Given the description of an element on the screen output the (x, y) to click on. 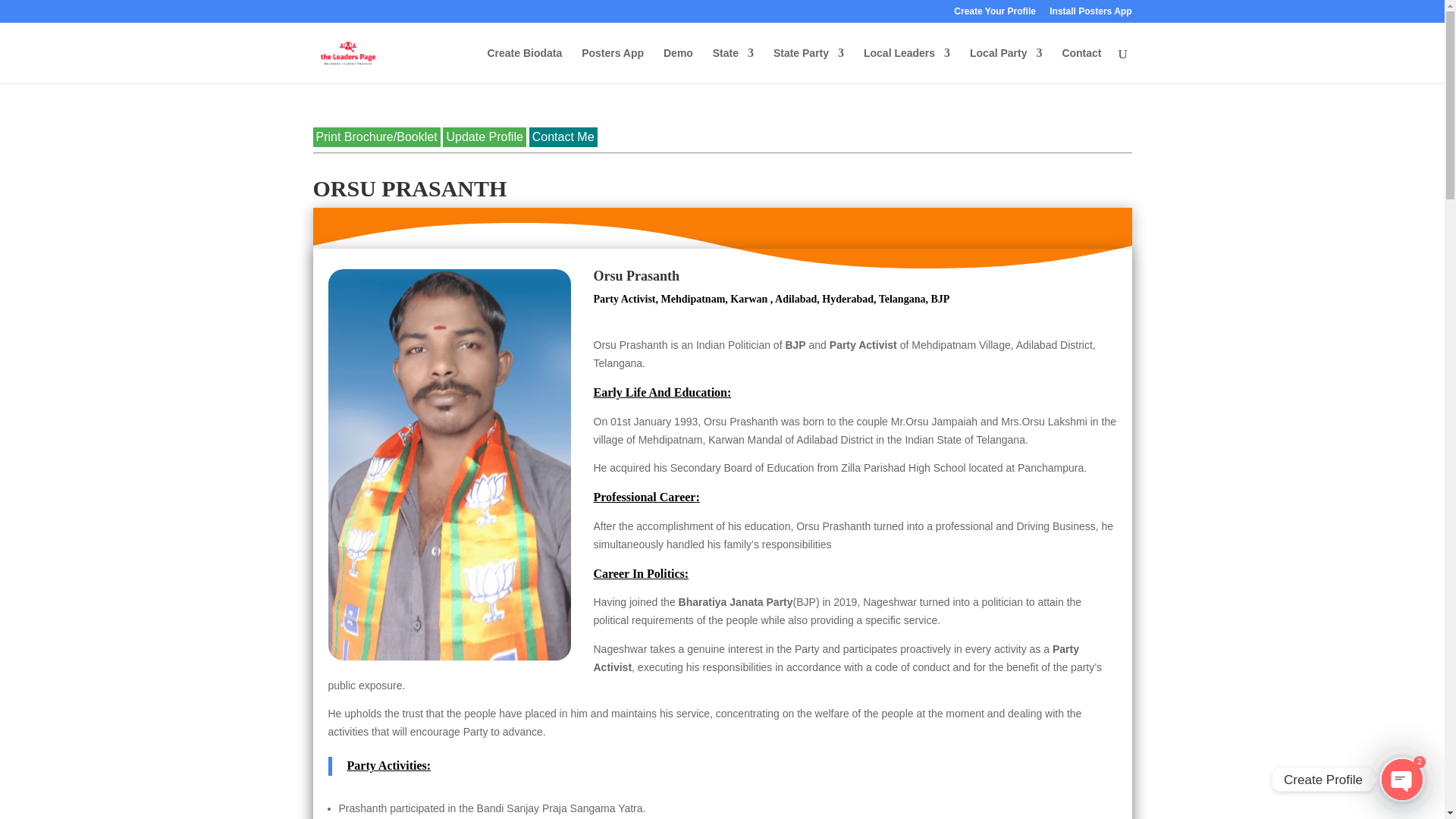
Local Leaders (906, 65)
Create Your Profile (994, 14)
Posters App (611, 65)
Create Biodata (524, 65)
Contact (1080, 65)
Install Posters App (1090, 14)
Local Party (1005, 65)
State (733, 65)
State Party (808, 65)
